Given the description of an element on the screen output the (x, y) to click on. 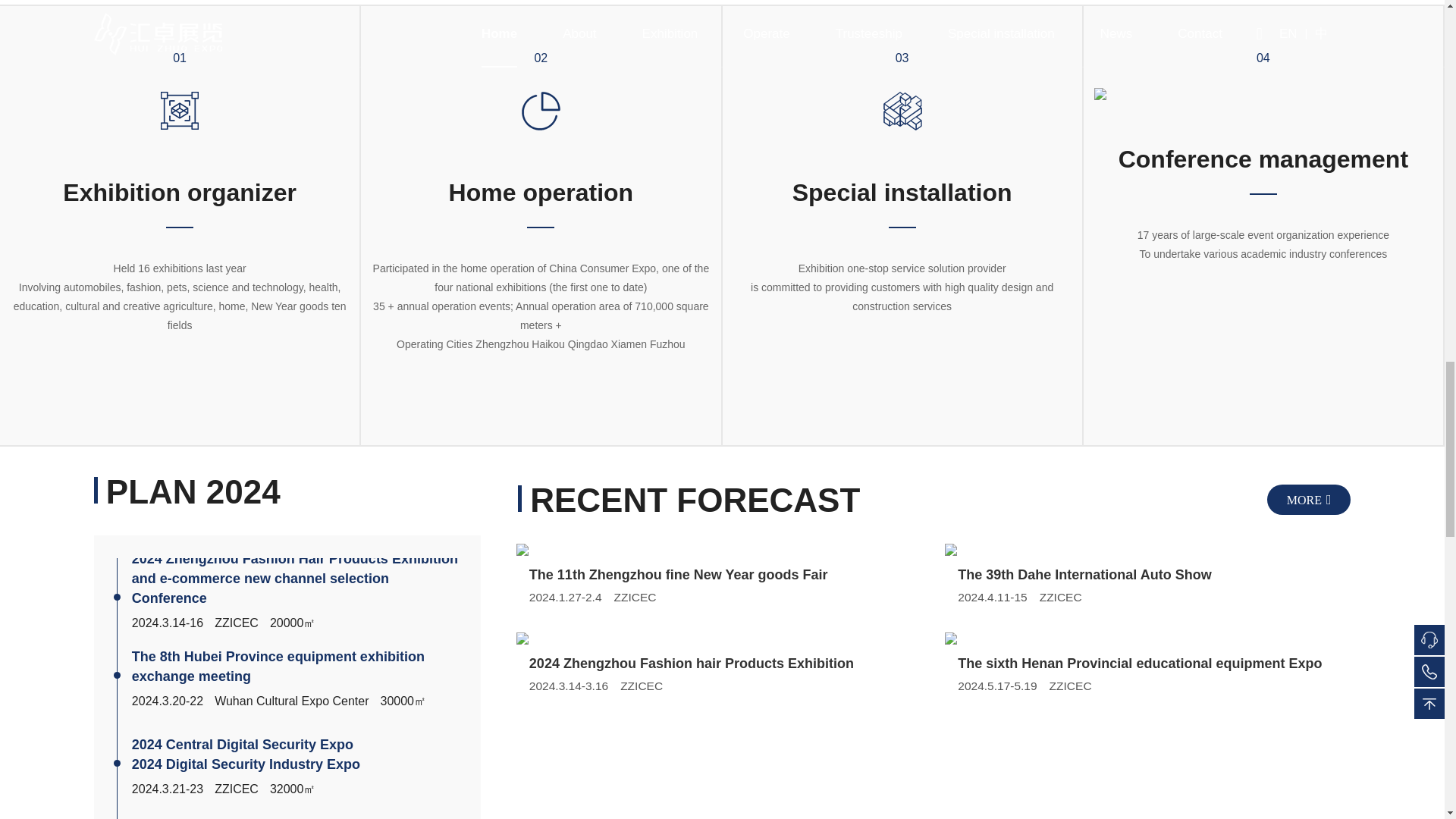
MORE (1309, 498)
